Given the description of an element on the screen output the (x, y) to click on. 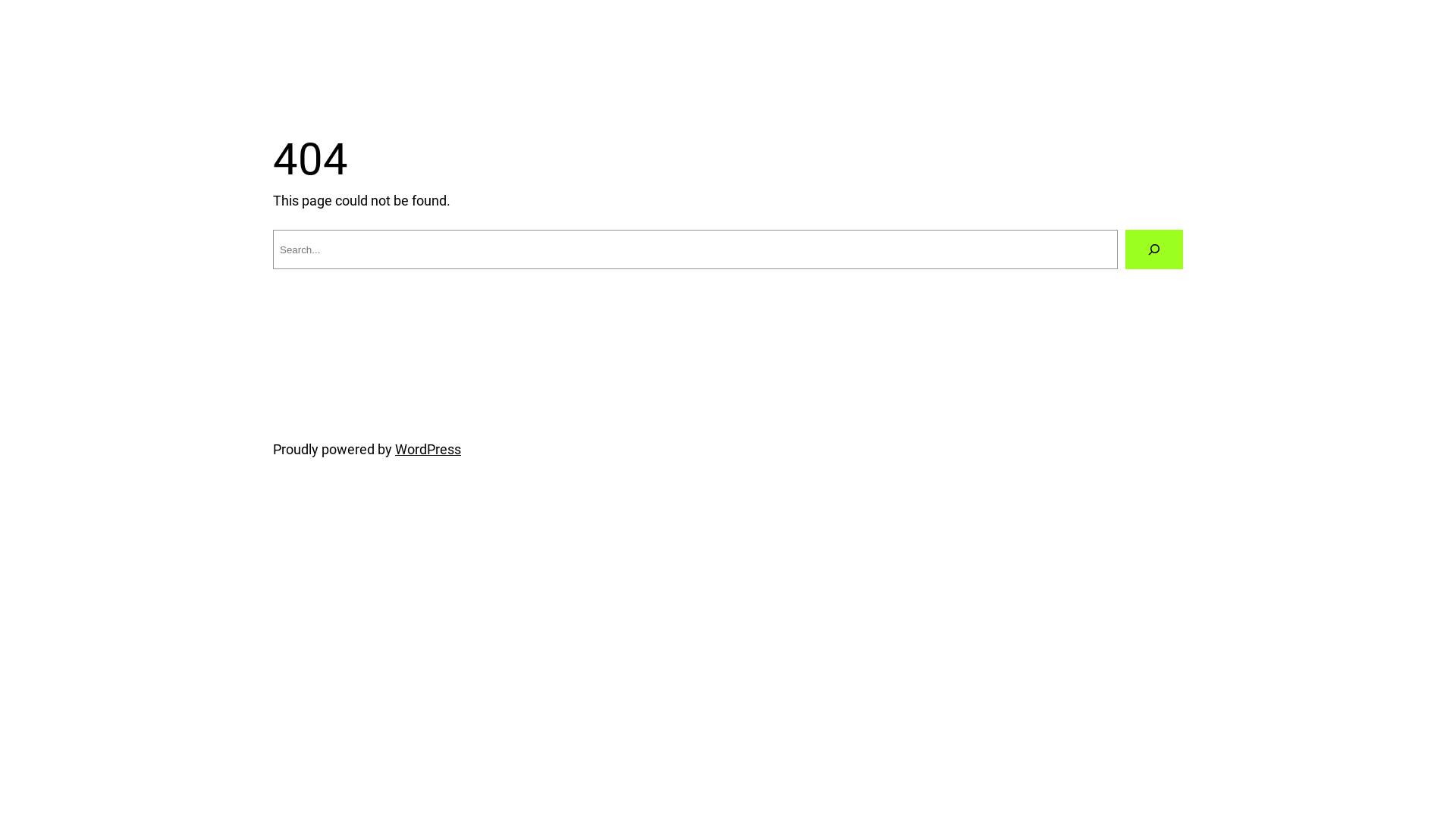
WordPress Element type: text (428, 449)
